Given the description of an element on the screen output the (x, y) to click on. 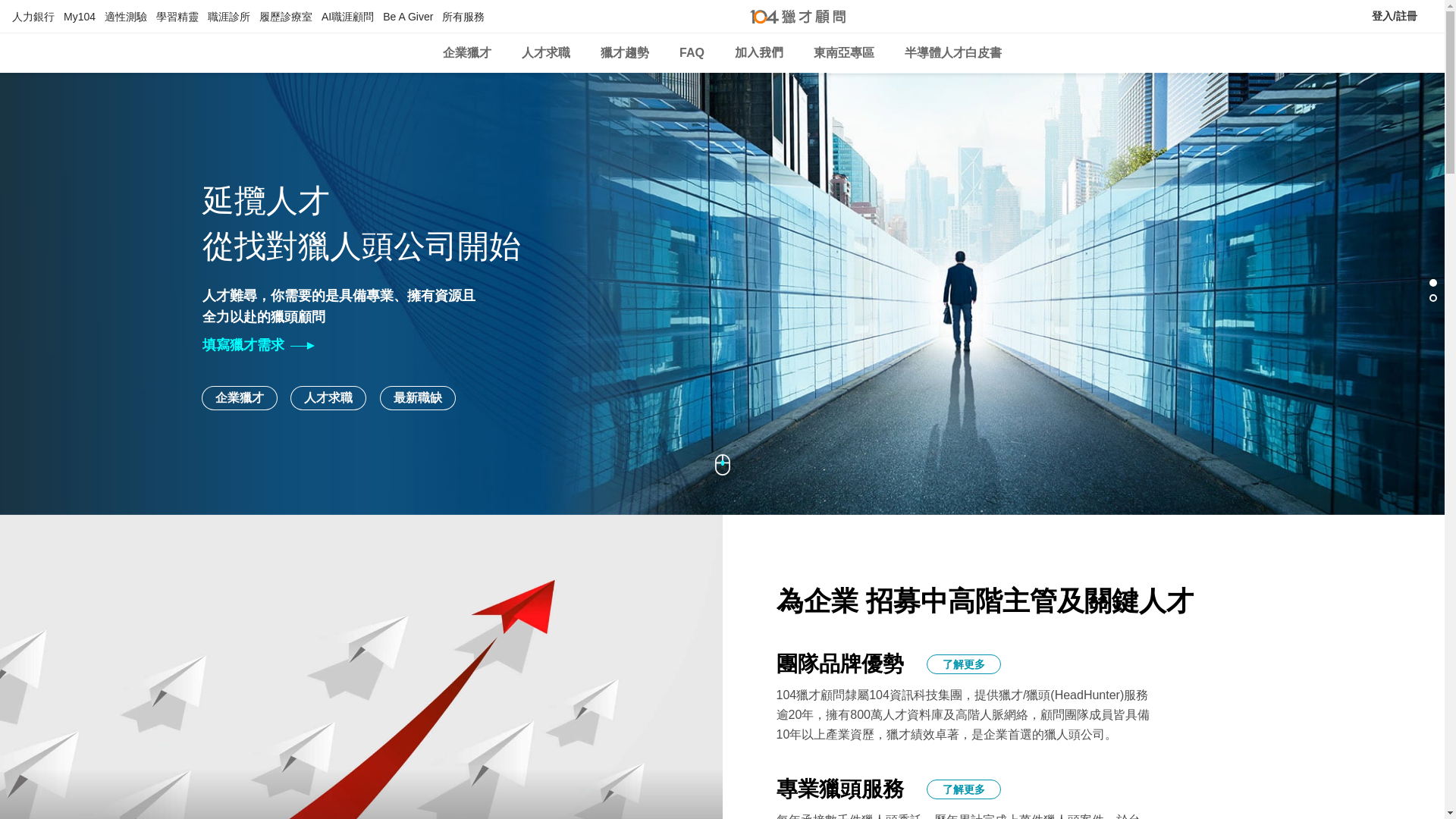
FAQ (691, 52)
